Given the description of an element on the screen output the (x, y) to click on. 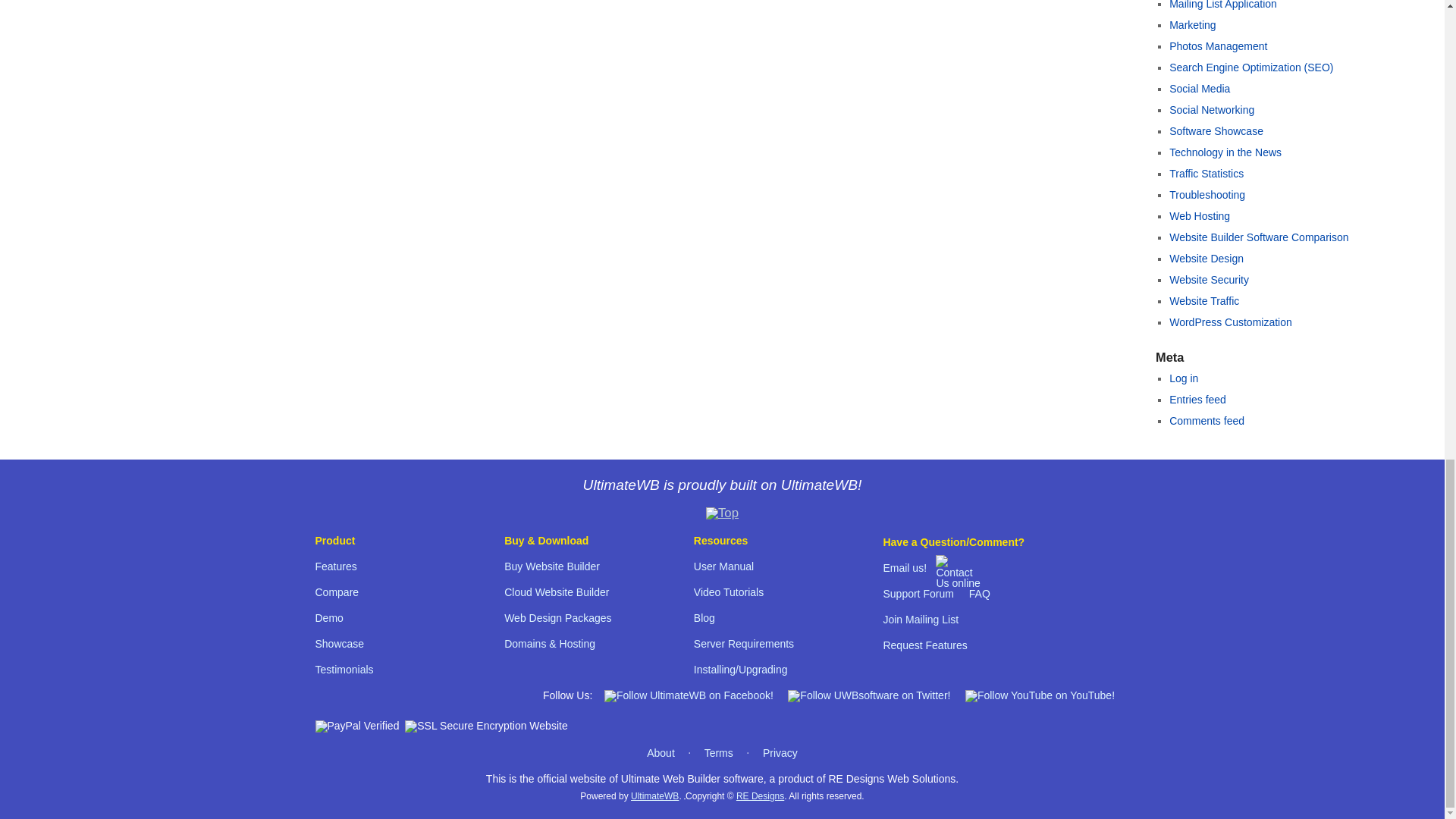
Contact UWB (958, 582)
Follow UltimateWB on Facebook! (688, 695)
Follow UltimateWB on YouTube! (1040, 695)
